Given the description of an element on the screen output the (x, y) to click on. 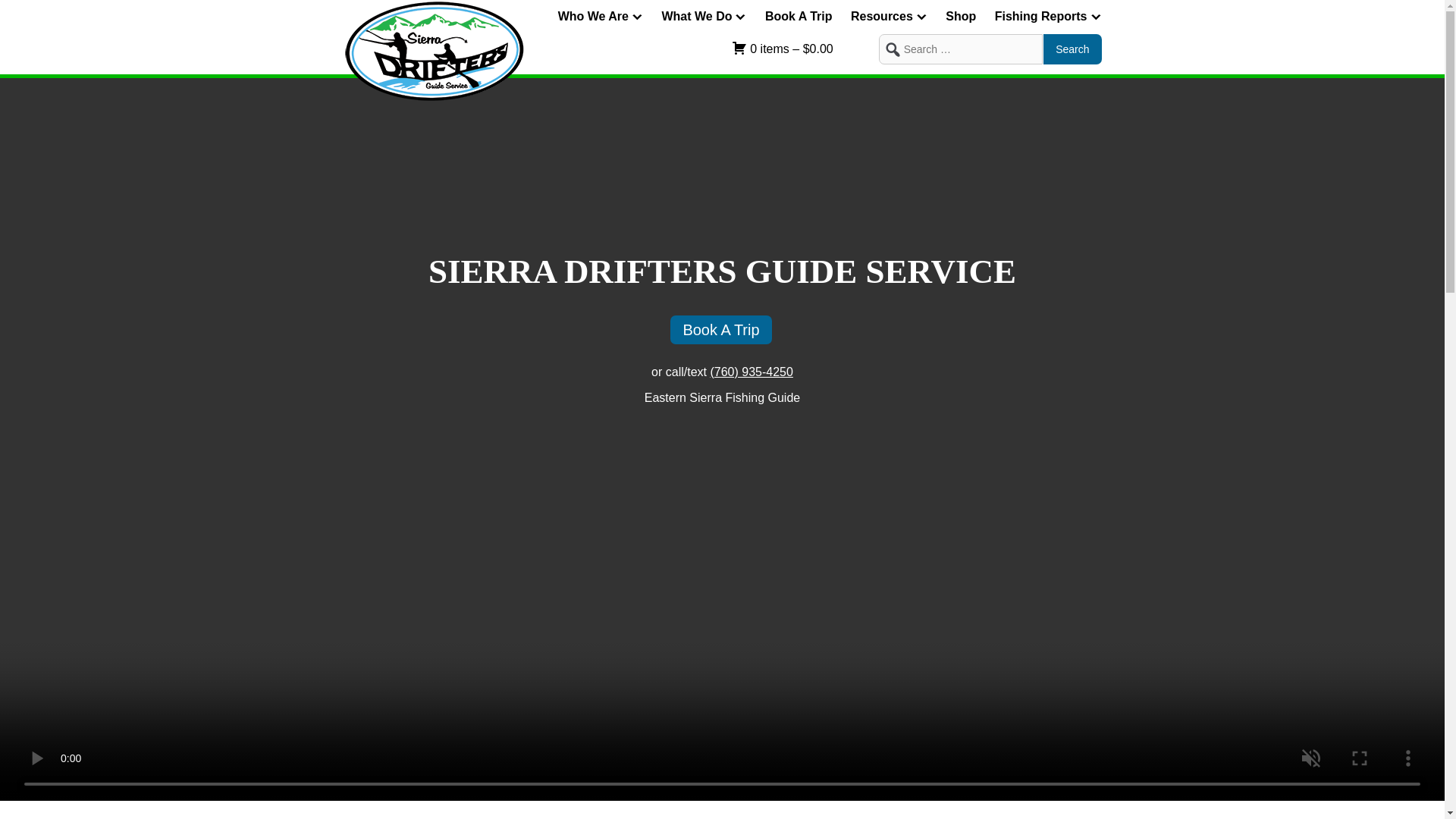
Fishing Reports (1048, 15)
Sierra Drifters Guide Service (433, 90)
View your shopping cart (805, 48)
Search (1071, 49)
Resources (888, 15)
What We Do (703, 15)
Who We Are (600, 15)
Shop (959, 15)
Search (1071, 49)
Book A Trip (798, 15)
